Given the description of an element on the screen output the (x, y) to click on. 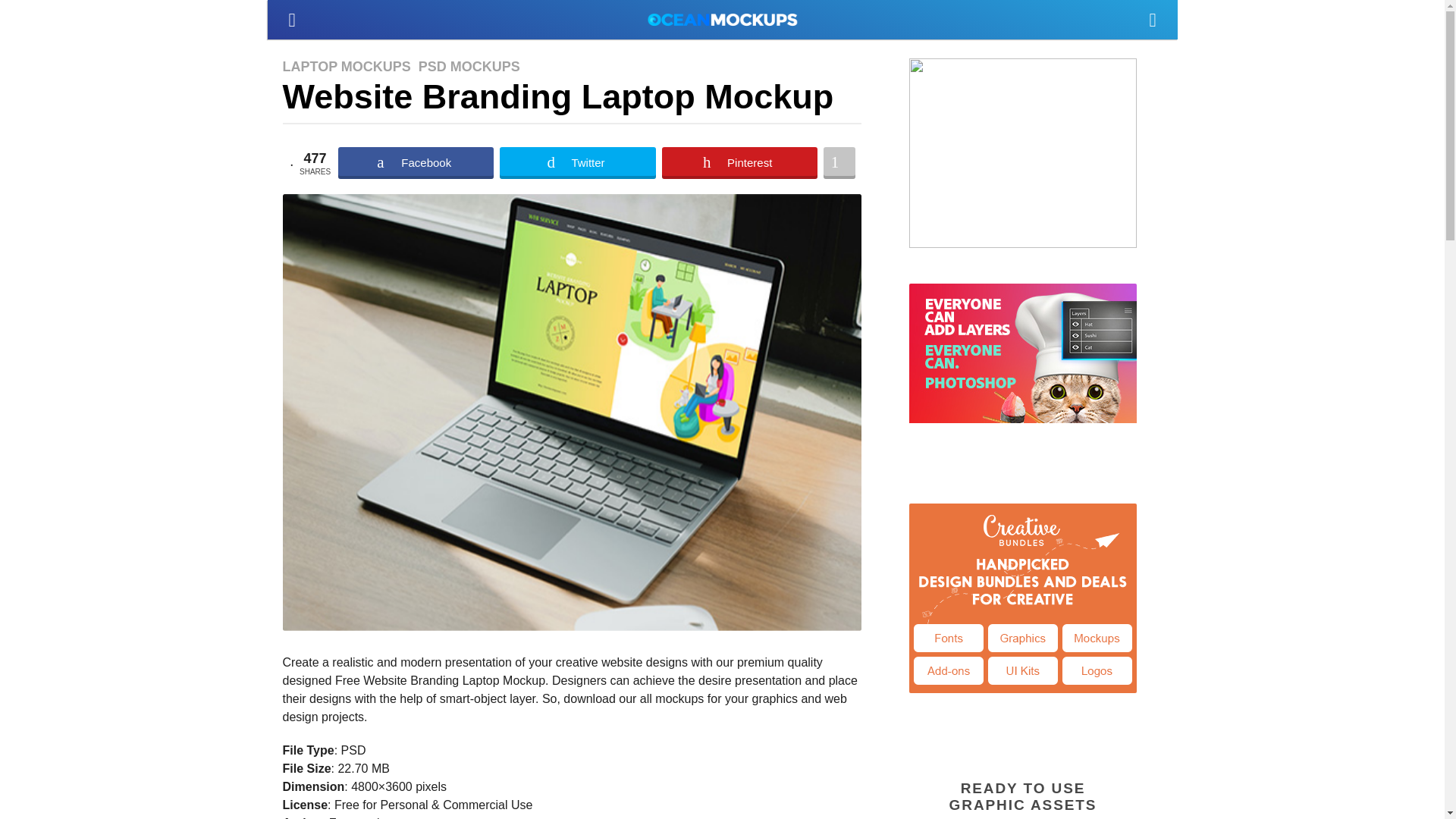
Share on Pinterest (739, 163)
Share on More Button (840, 163)
Share on Facebook (415, 163)
Share on Twitter (577, 163)
